Given the description of an element on the screen output the (x, y) to click on. 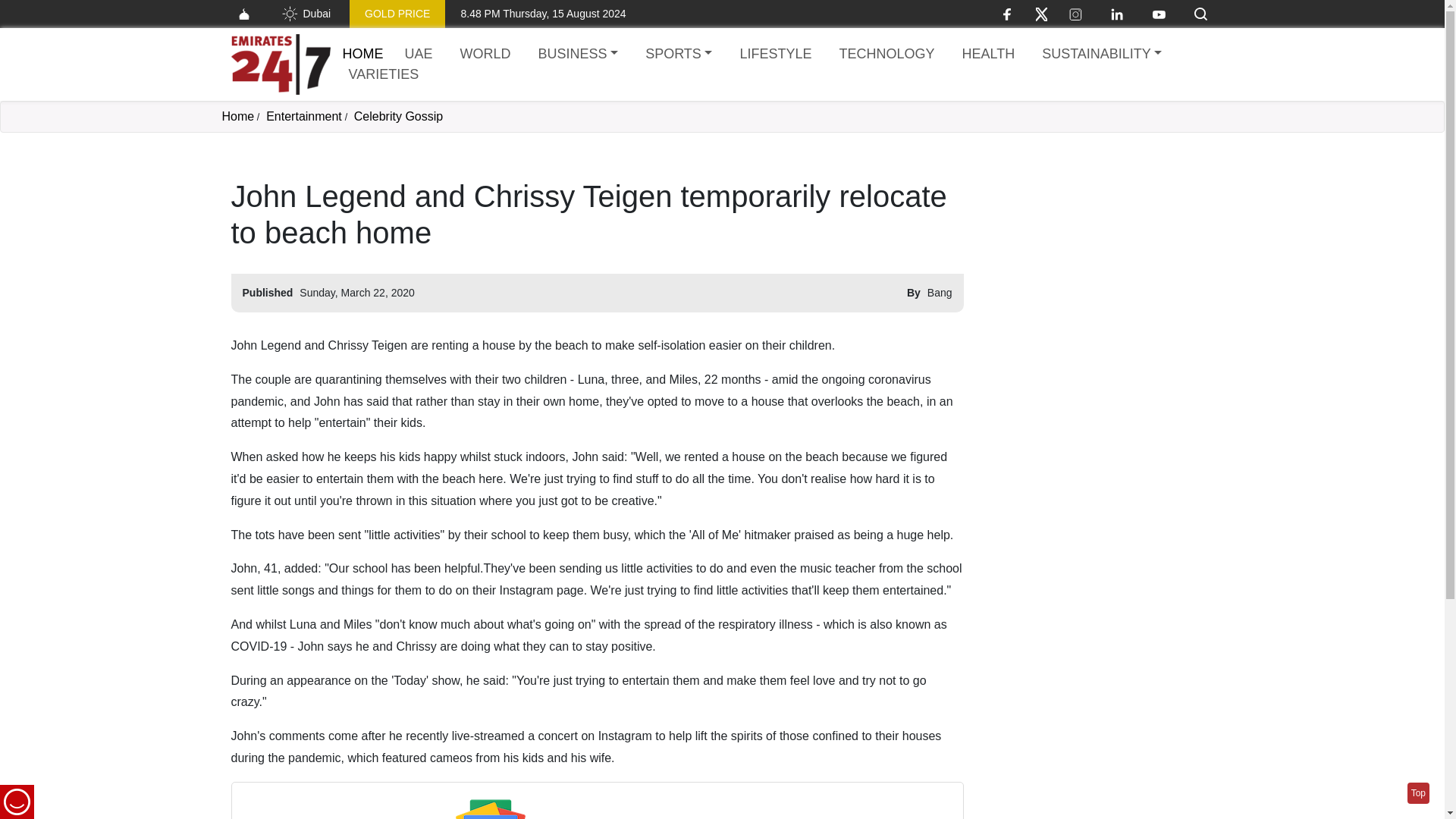
Home (237, 115)
Google News. (703, 817)
SPORTS (678, 54)
Home (280, 64)
Entertainment (304, 115)
Dubai (305, 13)
LIFESTYLE (774, 54)
Go to top (1418, 792)
GOLD PRICE (397, 13)
HOME (363, 53)
